Given the description of an element on the screen output the (x, y) to click on. 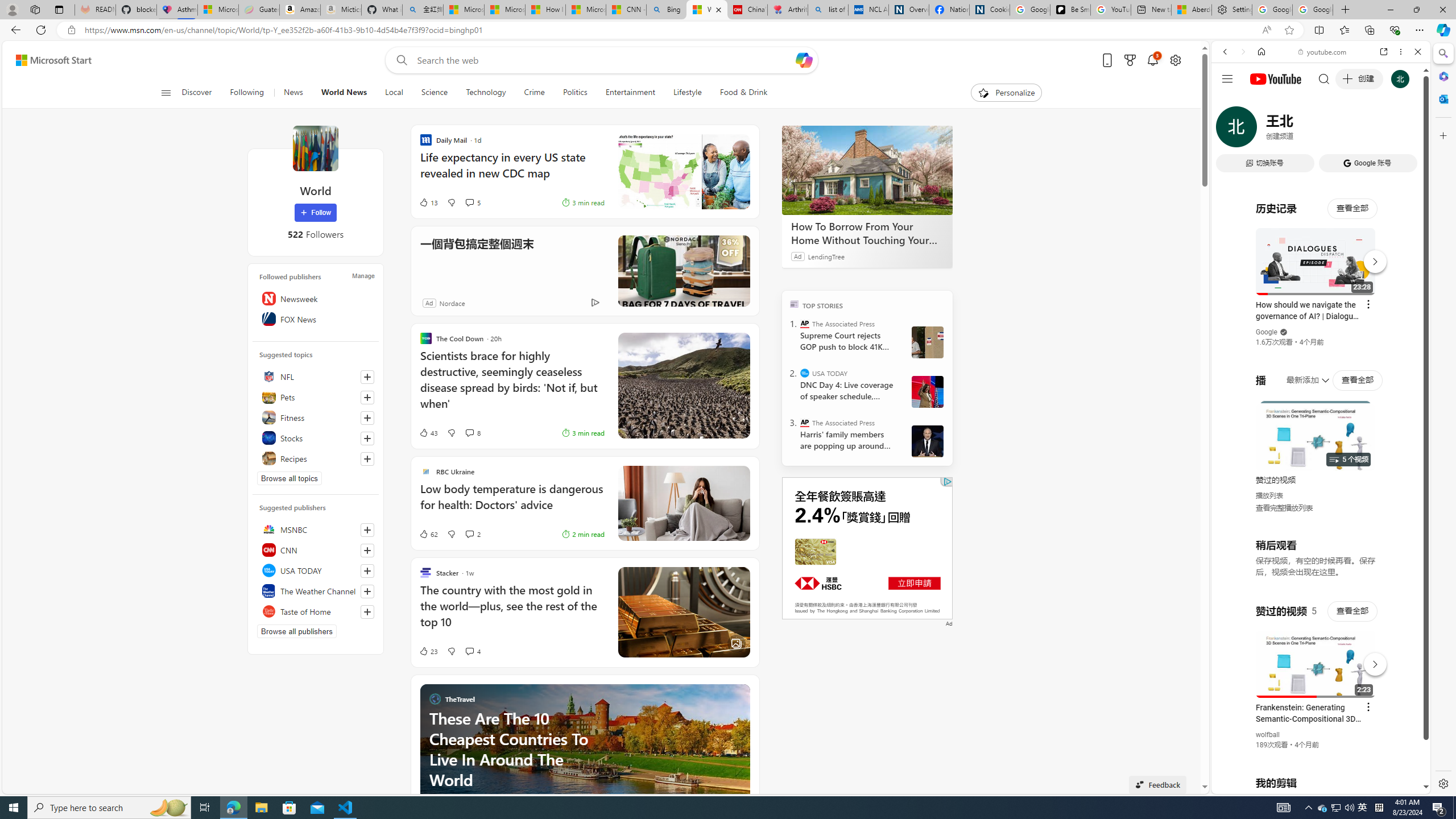
USA TODAY (804, 372)
Lifestyle (686, 92)
Politics (575, 92)
Technology (486, 92)
YouTube (1315, 655)
Local (393, 92)
TOP (794, 302)
NFL (315, 376)
62 Like (427, 533)
